Given the description of an element on the screen output the (x, y) to click on. 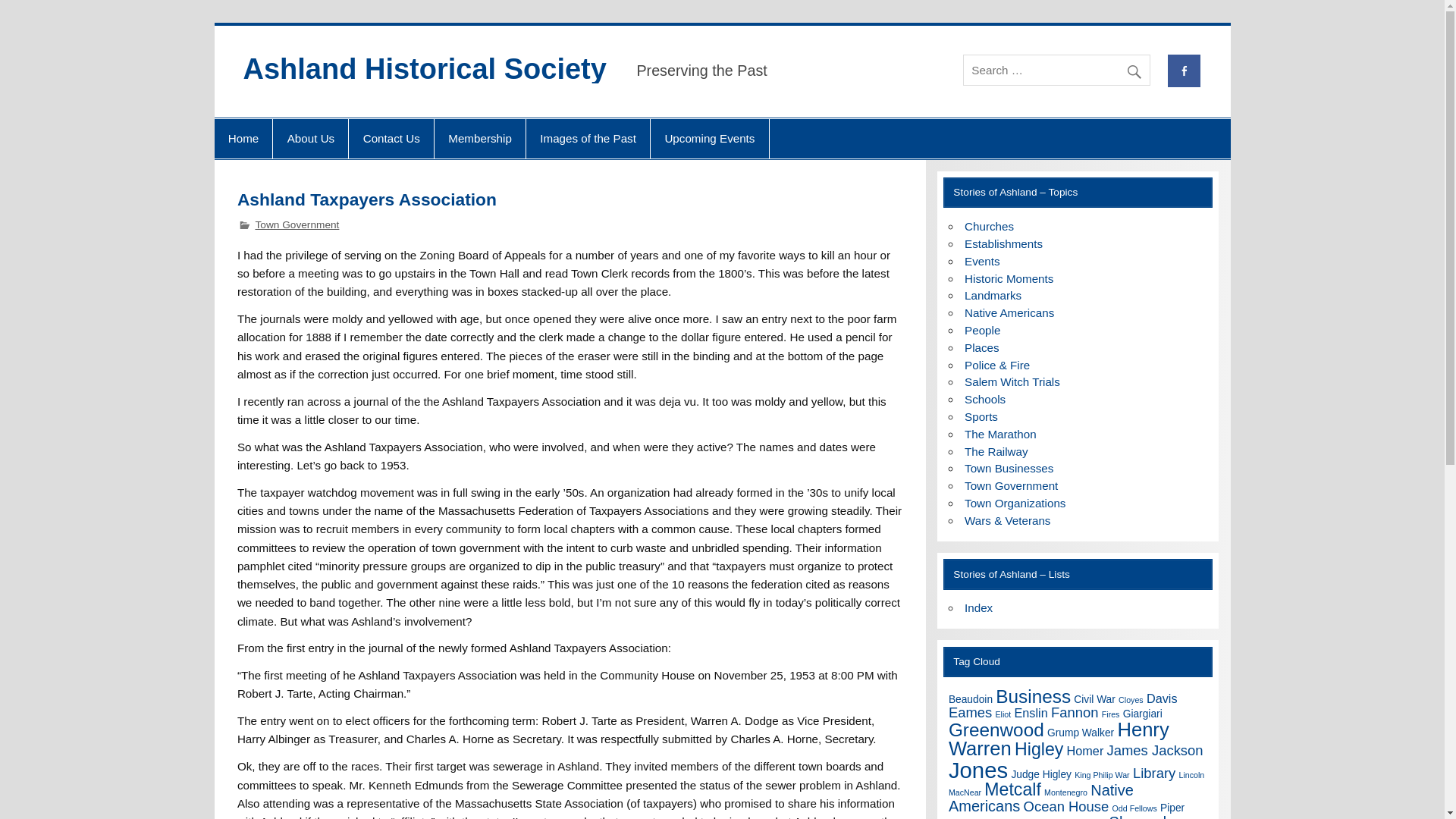
Sports (980, 416)
Town Organizations (1014, 502)
Landmarks (992, 295)
Eames (970, 712)
Civil War (1094, 699)
About Us (310, 138)
The Marathon (999, 433)
Images of the Past (587, 138)
Beaudoin (970, 699)
Cloyes (1130, 699)
